Given the description of an element on the screen output the (x, y) to click on. 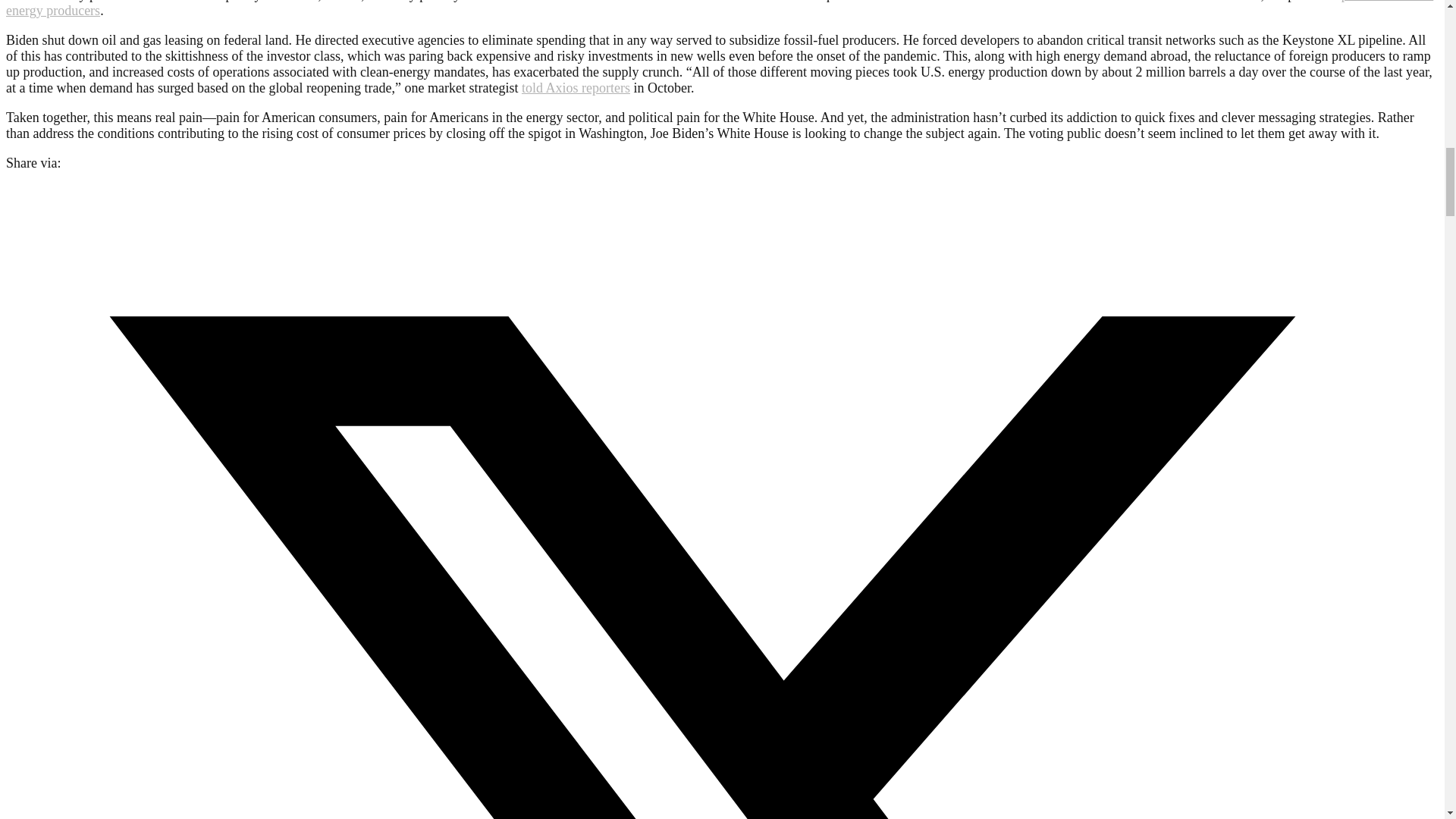
told Axios reporters (575, 87)
